Given the description of an element on the screen output the (x, y) to click on. 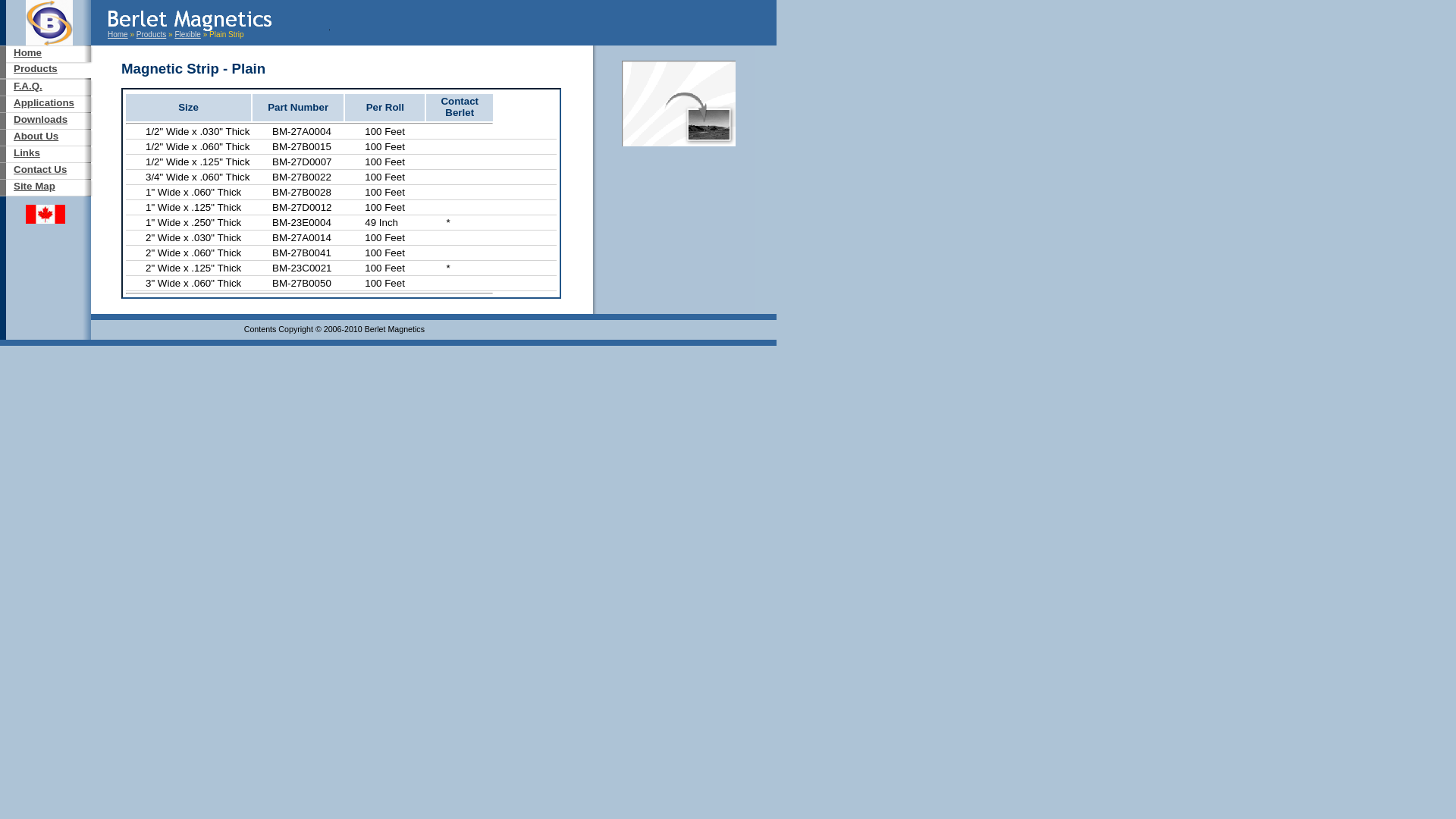
Site Map Element type: text (34, 185)
Downloads Element type: text (40, 119)
Home Element type: text (117, 34)
Home Element type: text (27, 52)
About Us Element type: text (35, 135)
Applications Element type: text (43, 102)
Contact Us Element type: text (39, 169)
Products Element type: text (35, 68)
Return to Home Page Element type: hover (48, 22)
Products Element type: text (151, 34)
Links Element type: text (26, 152)
F.A.Q. Element type: text (27, 85)
Flexible Element type: text (187, 34)
